Given the description of an element on the screen output the (x, y) to click on. 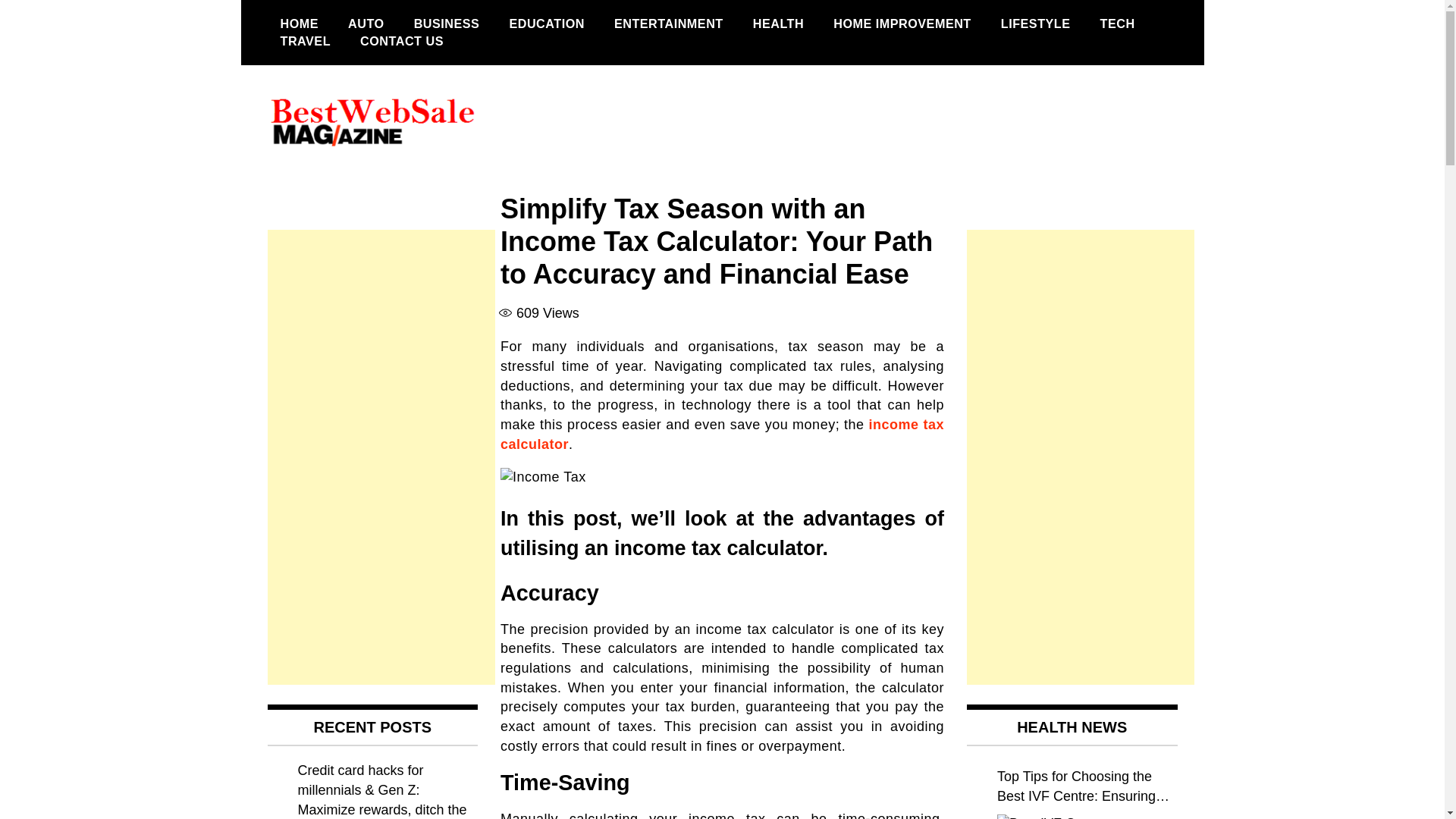
EDUCATION (546, 23)
income tax calculator (721, 434)
LIFESTYLE (1035, 23)
HOME (298, 23)
TRAVEL (304, 40)
ENTERTAINMENT (668, 23)
My Blog (320, 187)
HOME IMPROVEMENT (902, 23)
HEALTH (778, 23)
AUTO (366, 23)
CONTACT US (401, 40)
TECH (1118, 23)
BUSINESS (447, 23)
